Given the description of an element on the screen output the (x, y) to click on. 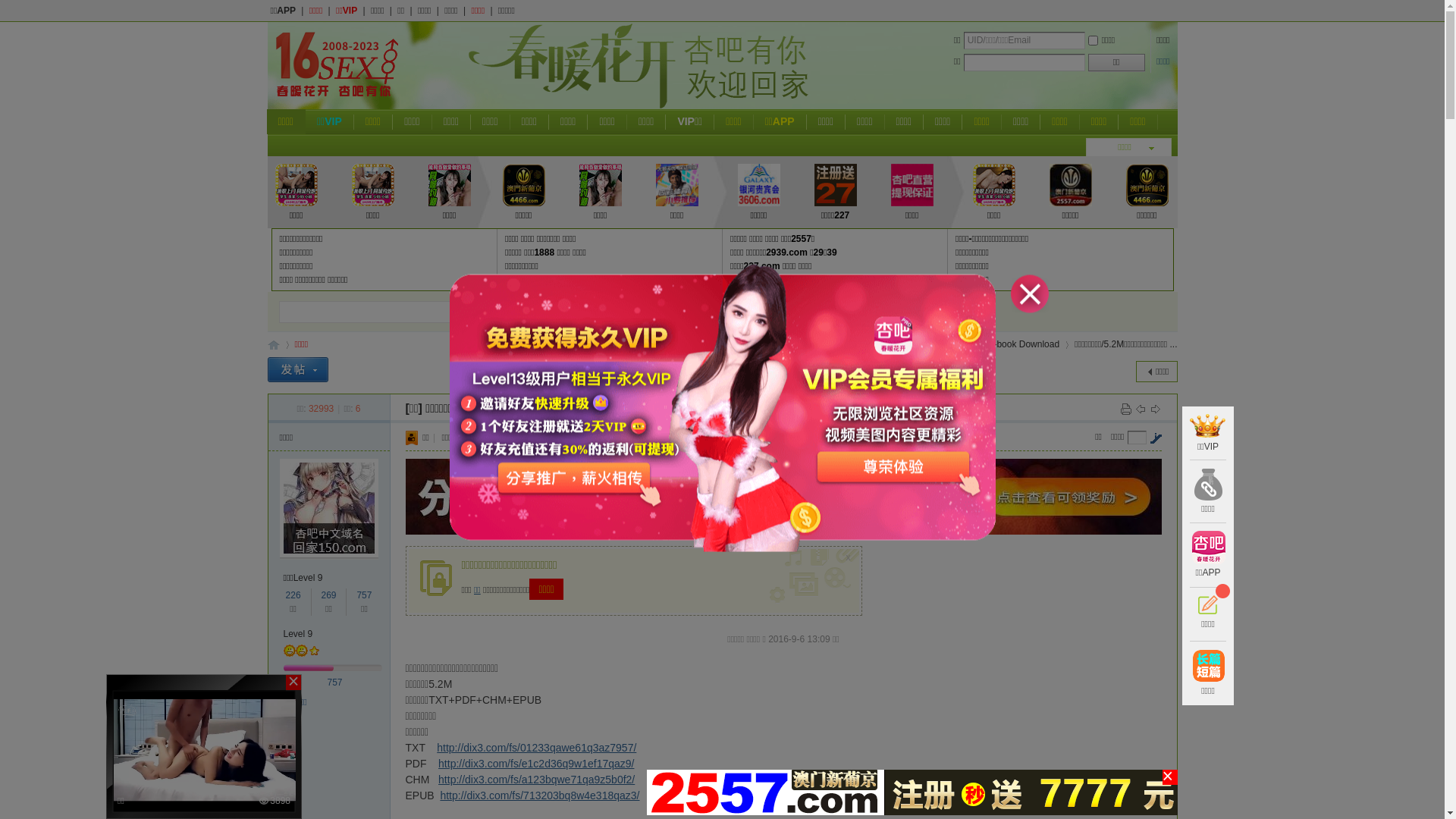
269 Element type: text (327, 594)
http://dix3.com/fs/713203bq8w4e318qaz3/ Element type: text (539, 794)
Level 9 Element type: text (308, 577)
757 Element type: text (334, 682)
Level 9 Element type: text (298, 633)
http://dix3.com/fs/01233qawe61q3az7957/ Element type: text (536, 747)
x Element type: text (849, 554)
http://dix3.com/fs/e1c2d36q9w1ef17qaz9/ Element type: text (535, 762)
http://dix3.com/fs/a123bqwe71qa9z5b0f2/ Element type: text (536, 779)
226 Element type: text (293, 594)
757 Element type: text (363, 594)
